Given the description of an element on the screen output the (x, y) to click on. 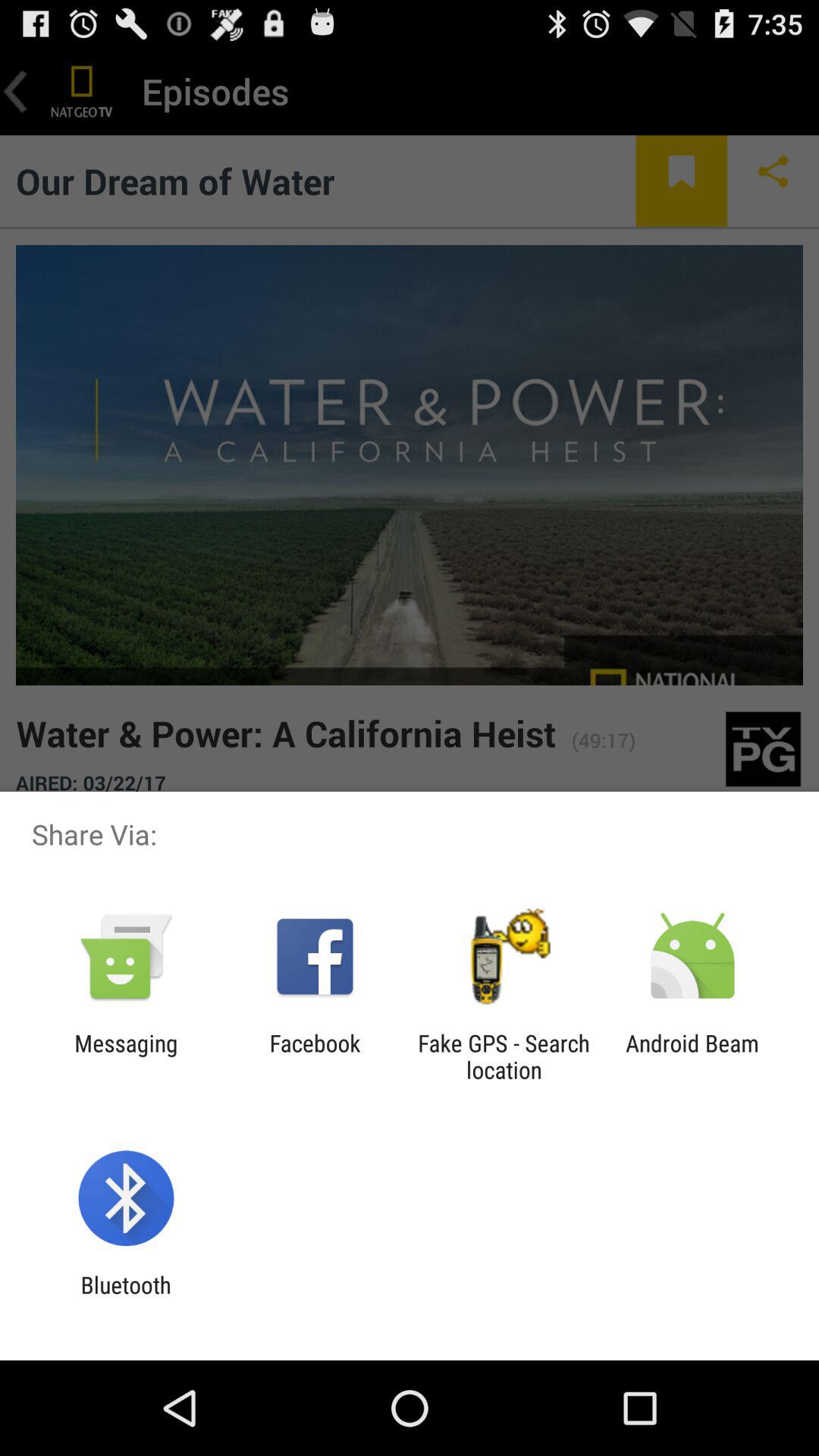
jump to android beam icon (692, 1056)
